Given the description of an element on the screen output the (x, y) to click on. 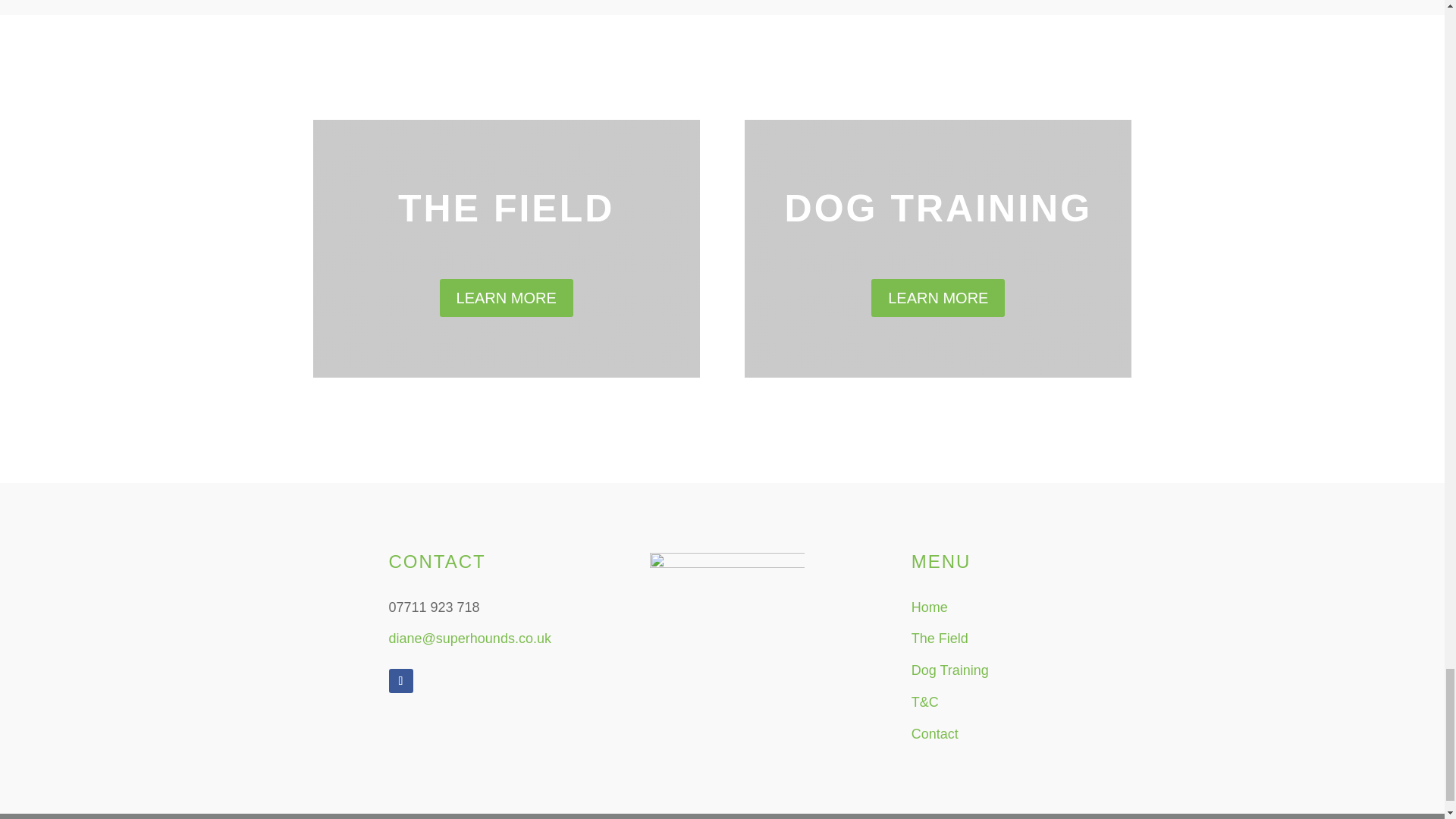
Dog Training (949, 670)
Contact (934, 734)
Home (929, 607)
Follow on Facebook (400, 680)
The Field (939, 638)
LEARN MORE (937, 297)
LEARN MORE (506, 297)
